Given the description of an element on the screen output the (x, y) to click on. 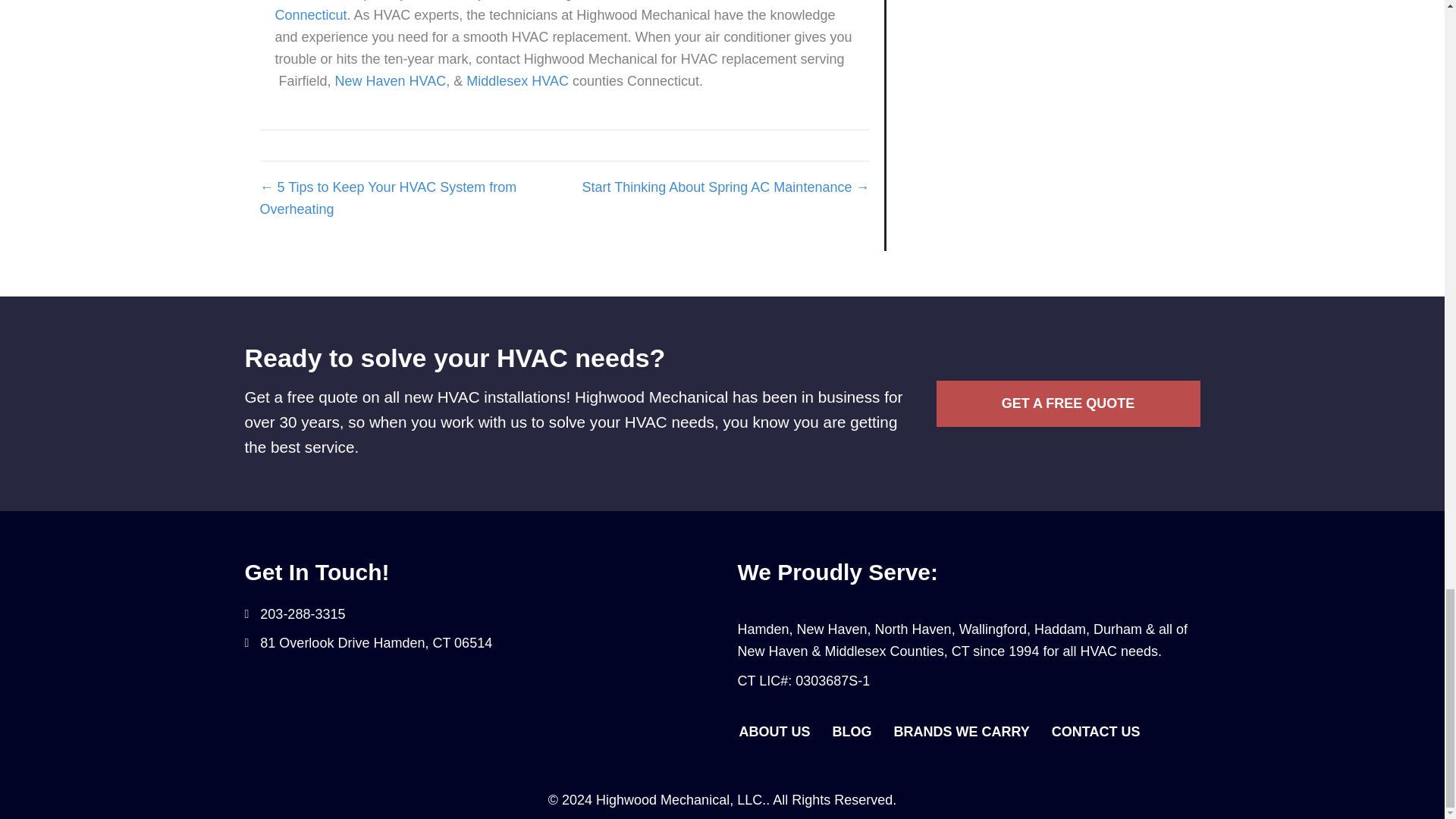
New Haven HVAC (390, 80)
Highwood Mechanical Contractors in Fairfield, Connecticut. (552, 11)
Middlesex HVAC (517, 80)
